Given the description of an element on the screen output the (x, y) to click on. 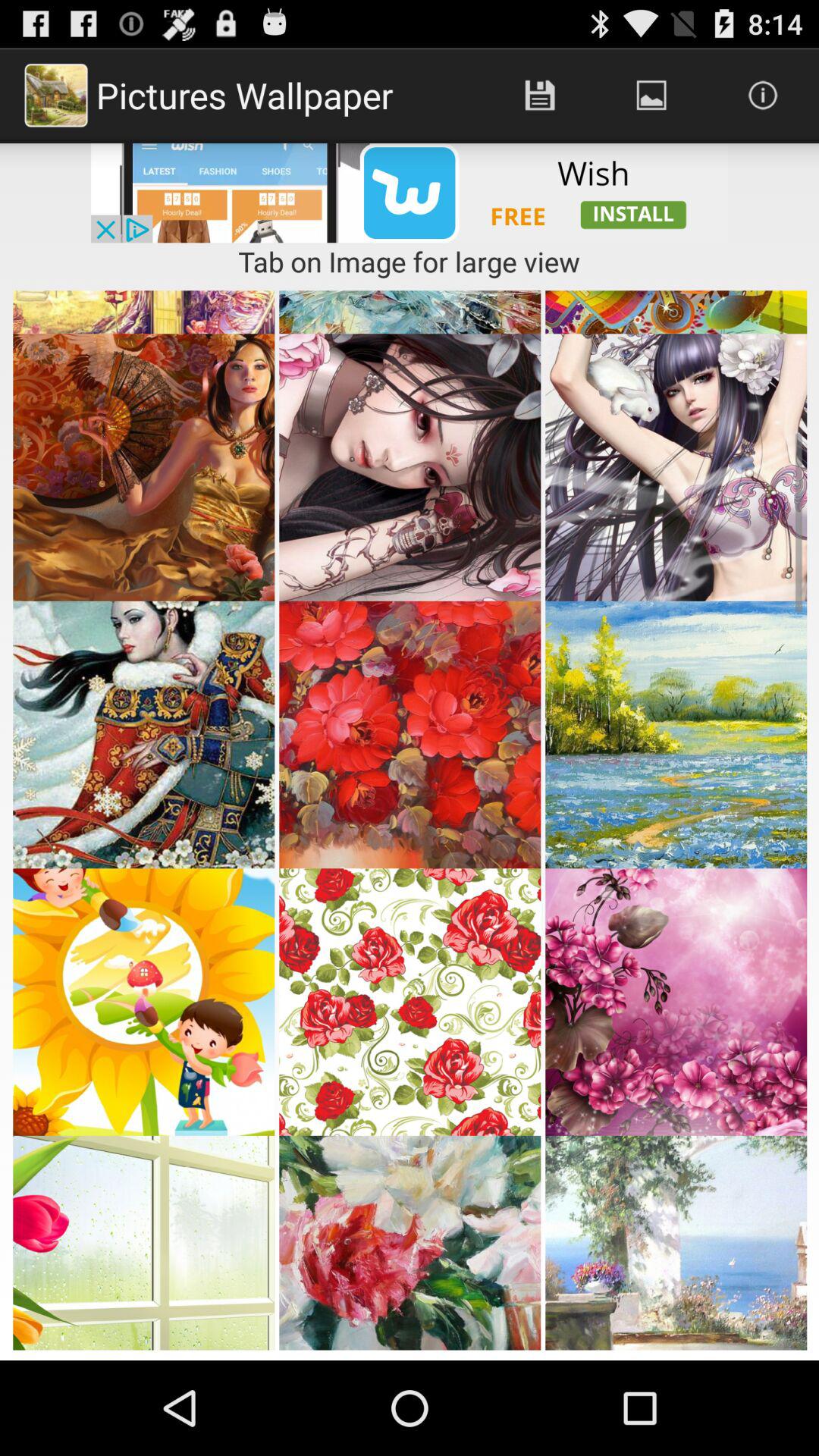
select the image top left (143, 459)
